Given the description of an element on the screen output the (x, y) to click on. 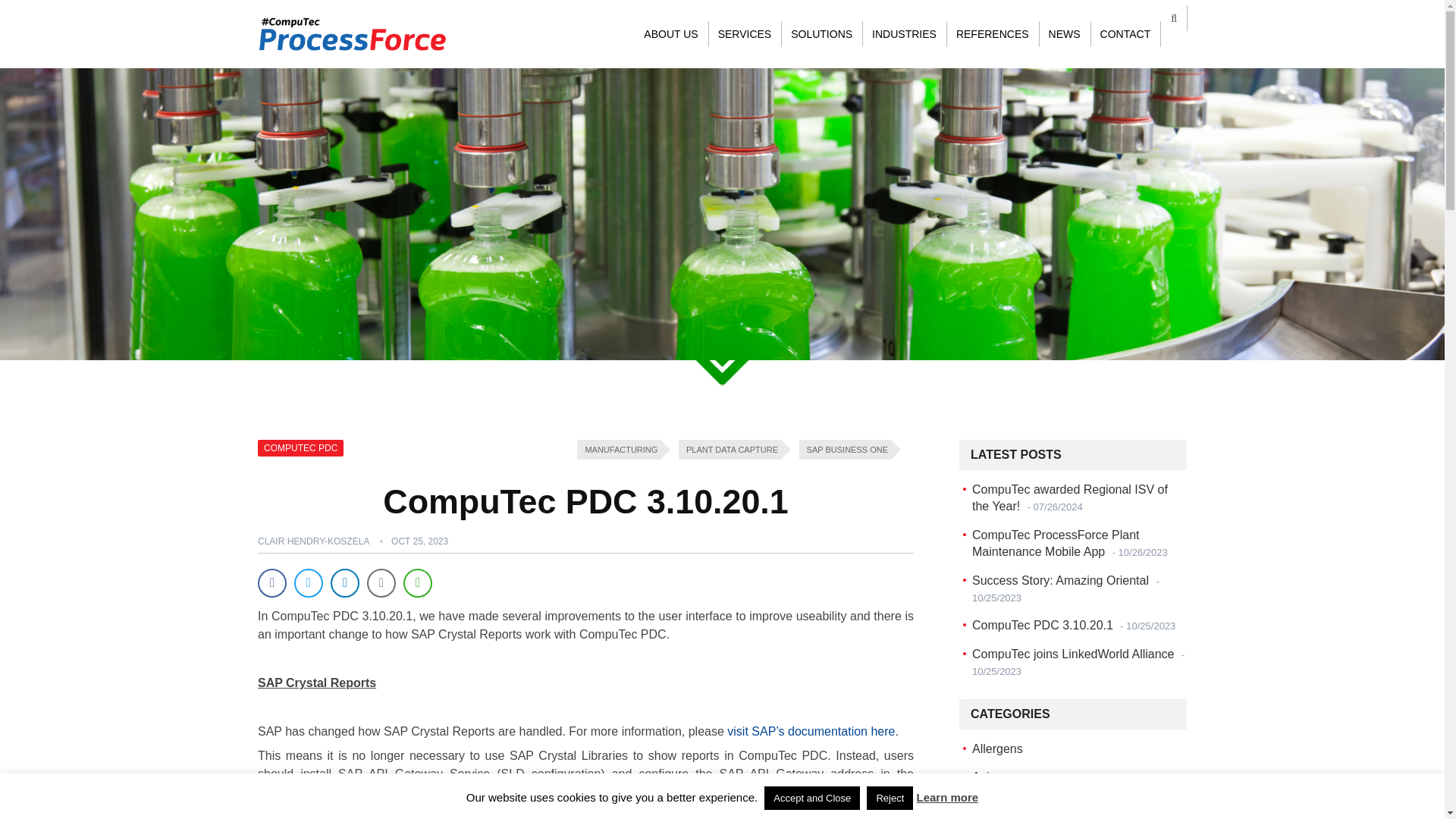
View all posts in CompuTec PDC (300, 447)
SERVICES (745, 33)
SOLUTIONS (821, 33)
CompuTec ProcessForce Plant Maintenance Mobile App (1069, 542)
Success Story: Amazing Oriental (1065, 588)
INDUSTRIES (904, 33)
MANUFACTURING (618, 449)
Posts by Clair Hendry-Koszela (313, 541)
CompuTec awarded Regional ISV of the Year! (1069, 497)
REFERENCES (992, 33)
CONTACT (1125, 33)
COMPUTEC PDC (300, 447)
ABOUT US (670, 33)
CompuTec PDC 3.10.20.1 (1073, 625)
CompuTec joins LinkedWorld Alliance (1078, 662)
